Given the description of an element on the screen output the (x, y) to click on. 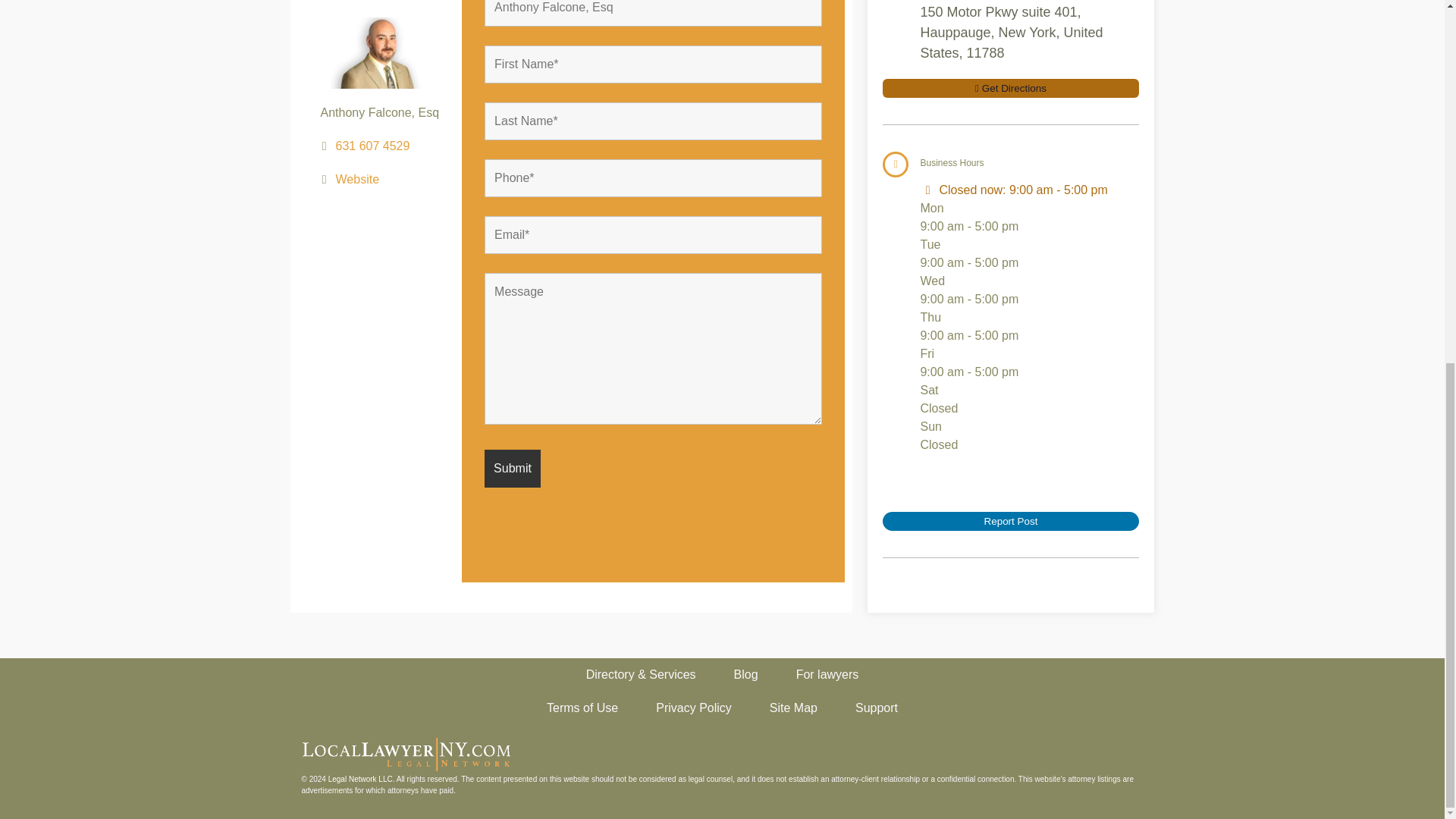
631 607 4529 (373, 171)
Expand opening hours (1058, 189)
Submit (512, 468)
Submit (512, 485)
Website (358, 201)
Anthony Falcone, Esq (653, 13)
